Given the description of an element on the screen output the (x, y) to click on. 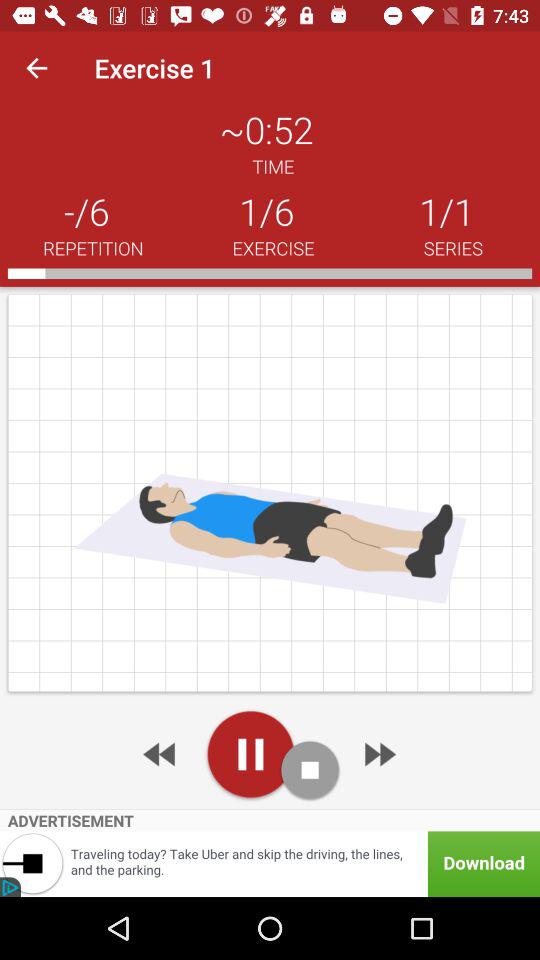
pause/play the file (250, 754)
